Given the description of an element on the screen output the (x, y) to click on. 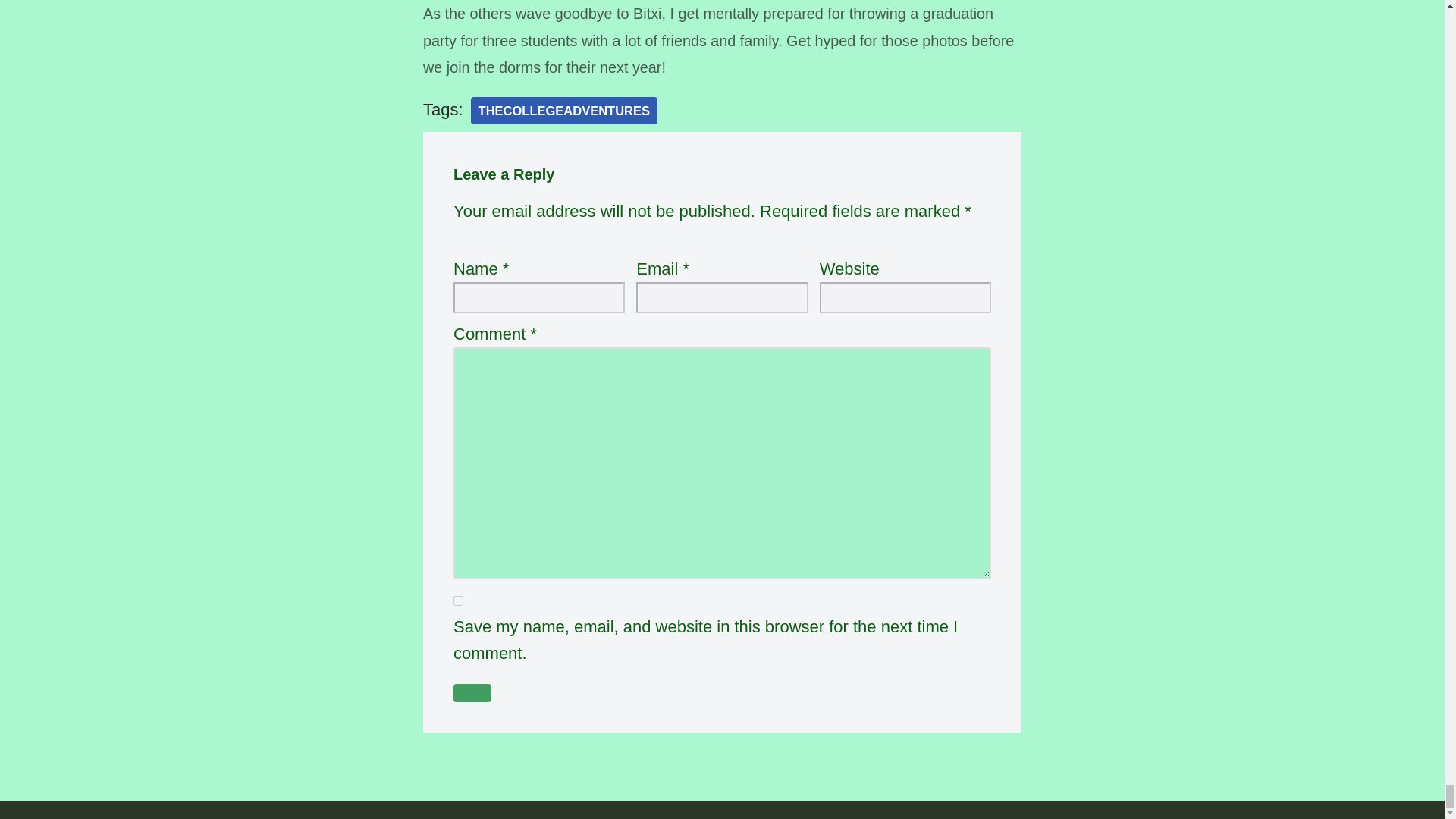
Post Comment (472, 692)
THECOLLEGEADVENTURES (564, 111)
yes (457, 601)
Post Comment (472, 692)
thecollegeadventures (564, 111)
